Given the description of an element on the screen output the (x, y) to click on. 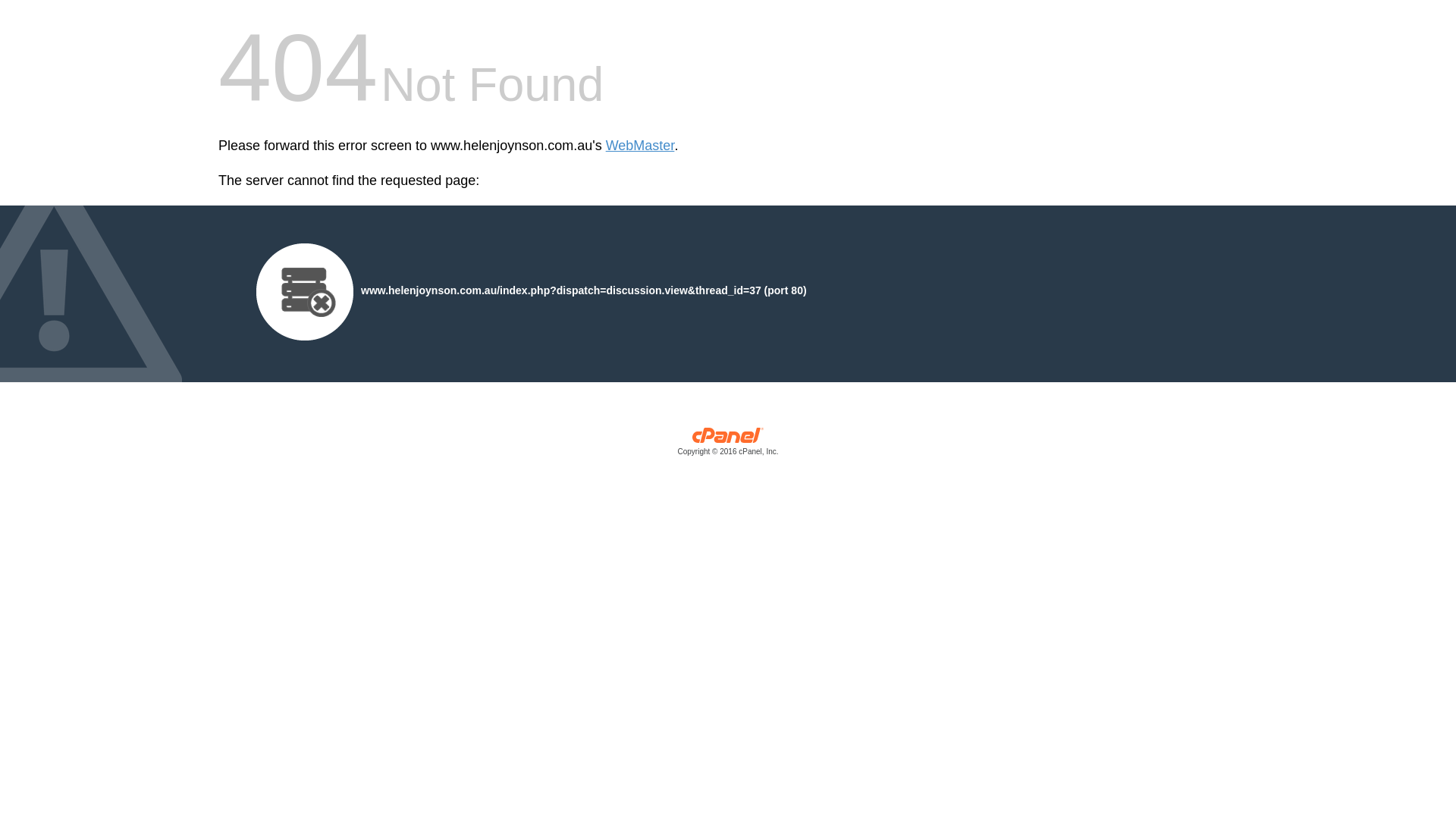
WebMaster Element type: text (639, 145)
